Given the description of an element on the screen output the (x, y) to click on. 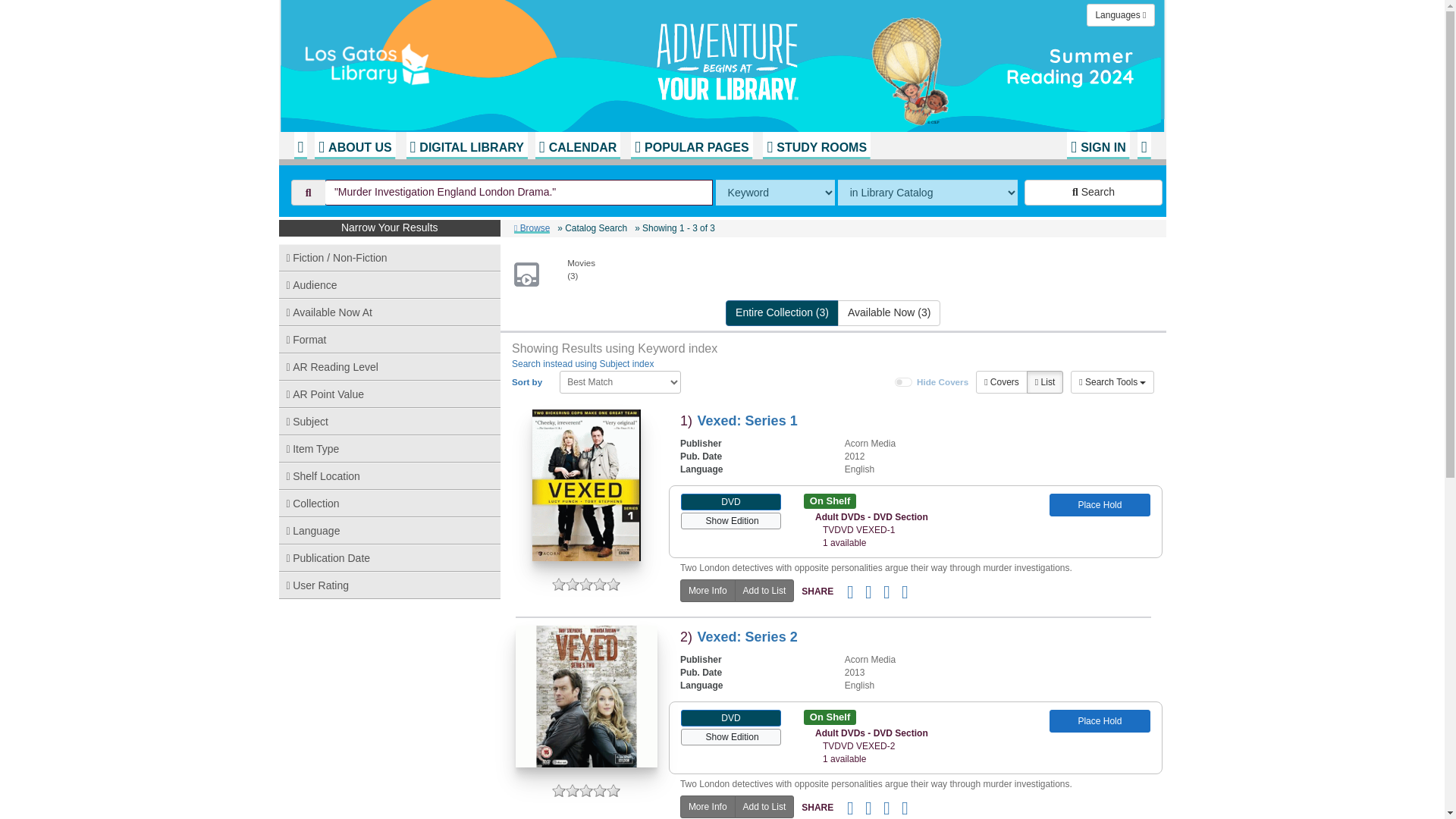
DIGITAL LIBRARY (466, 144)
"Murder Investigation England London Drama." (518, 192)
Languages  (1120, 15)
CALENDAR (578, 144)
SIGN IN (1098, 144)
 Search (1093, 192)
on (903, 381)
POPULAR PAGES (691, 144)
ABOUT US (354, 144)
STUDY ROOMS (816, 144)
Library Home Page (483, 60)
